Given the description of an element on the screen output the (x, y) to click on. 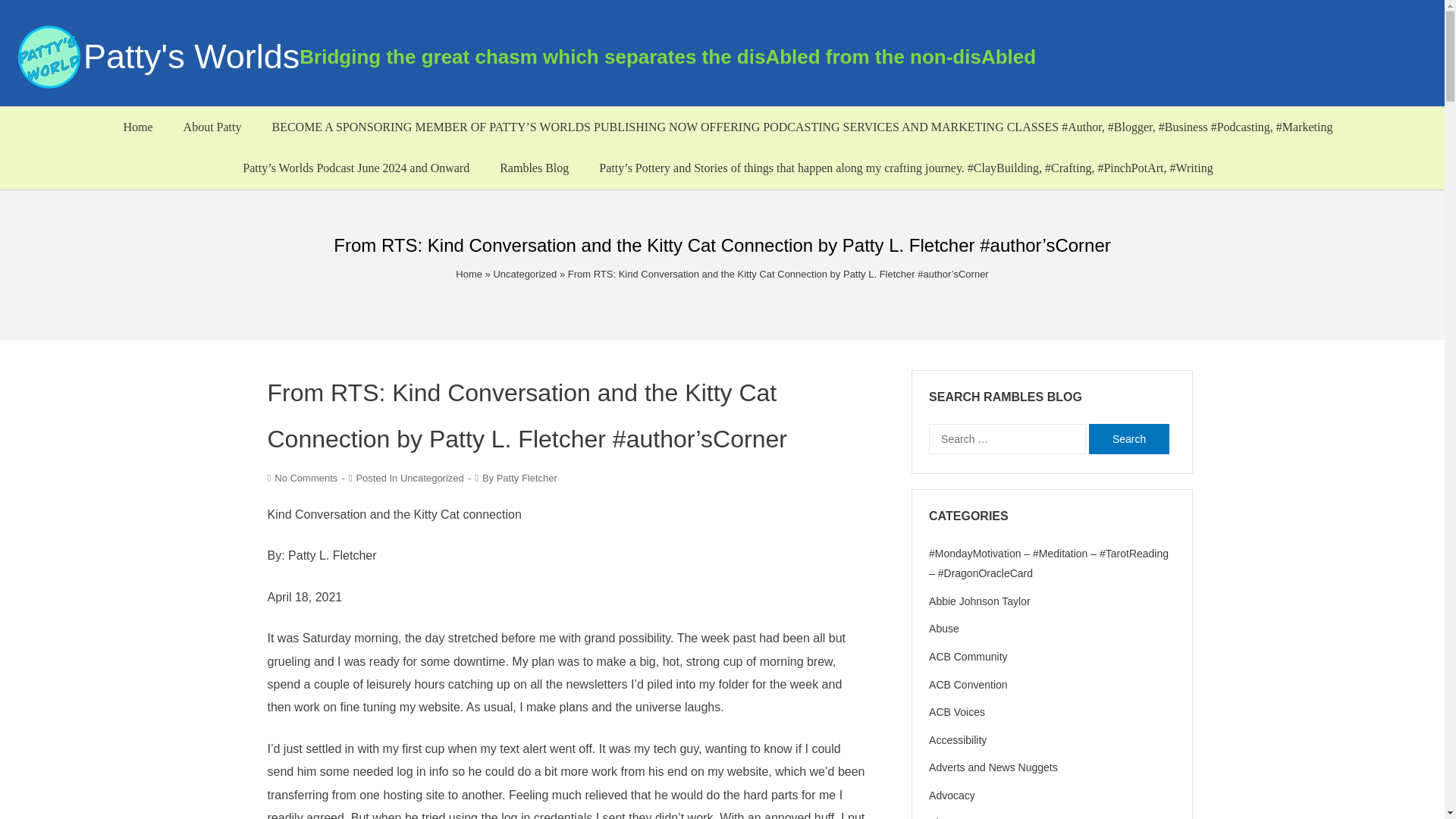
No Comments (306, 478)
Patty's Worlds (190, 56)
Rambles Blog (533, 168)
Home (137, 127)
Abuse (943, 628)
Search (1129, 439)
ACB Community (967, 656)
Home (468, 274)
Posts by Patty Fletcher (526, 478)
Uncategorized (524, 274)
